Given the description of an element on the screen output the (x, y) to click on. 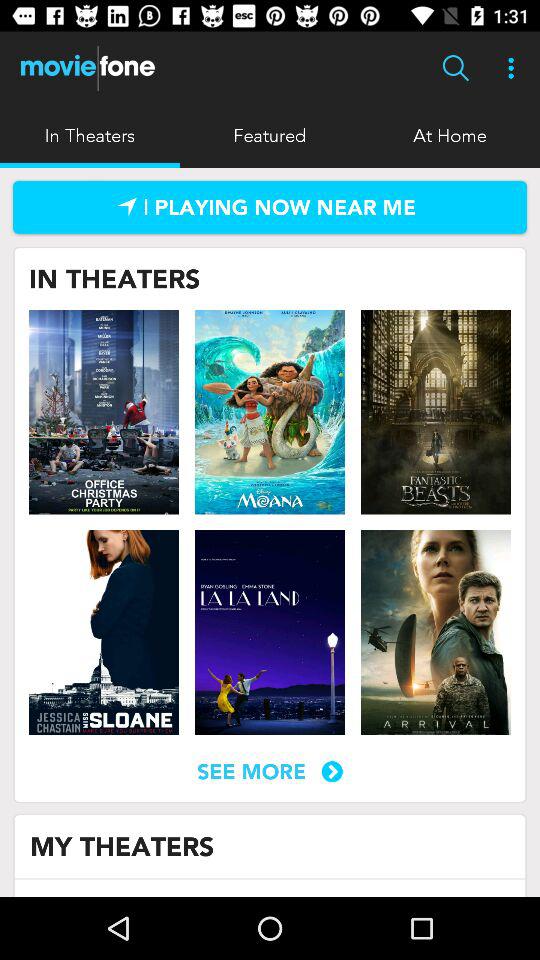
show page for movie (435, 411)
